Given the description of an element on the screen output the (x, y) to click on. 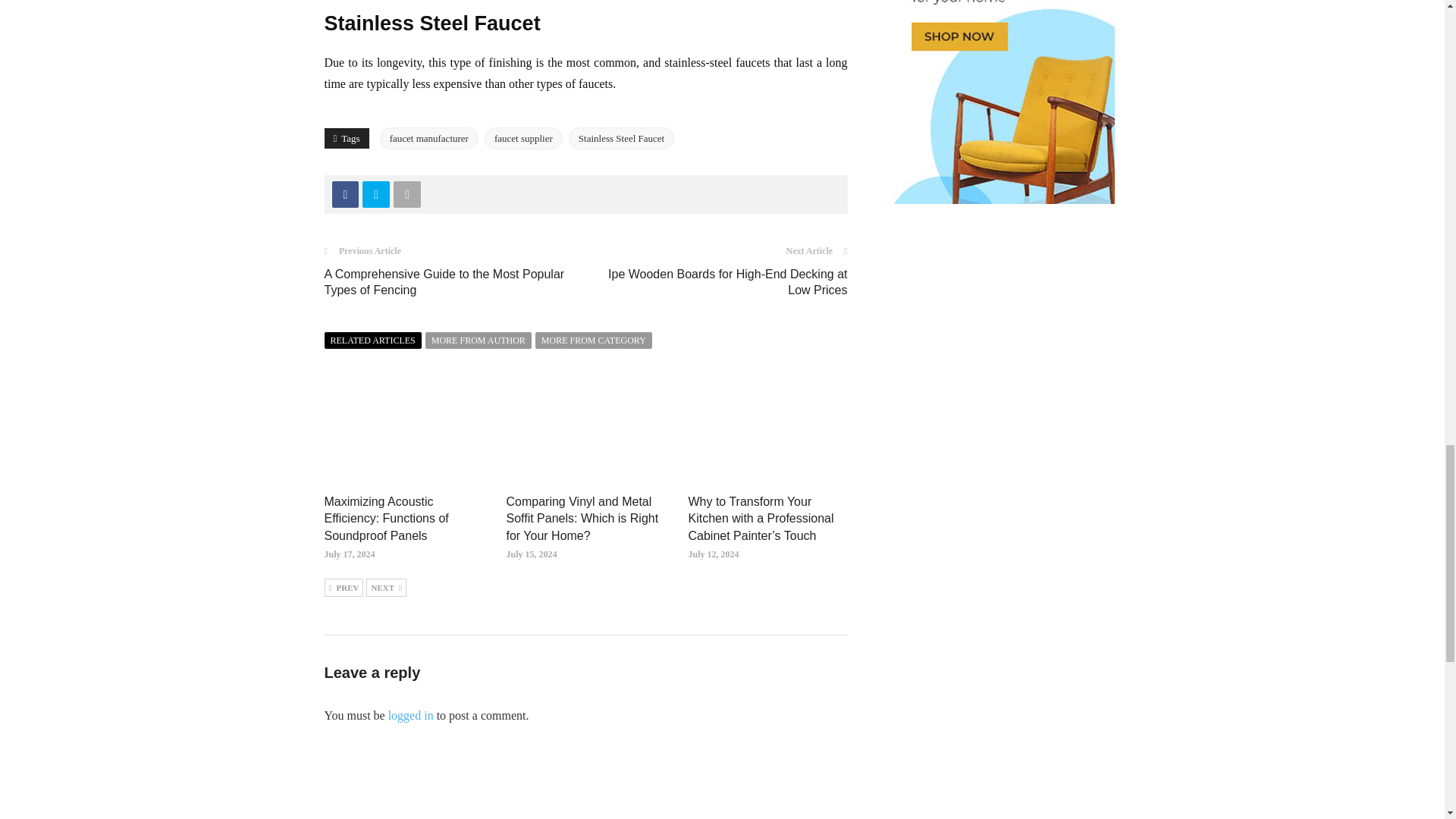
View all posts tagged faucet manufacturer (429, 138)
View all posts tagged Stainless Steel Faucet (621, 138)
View all posts tagged faucet supplier (523, 138)
